Given the description of an element on the screen output the (x, y) to click on. 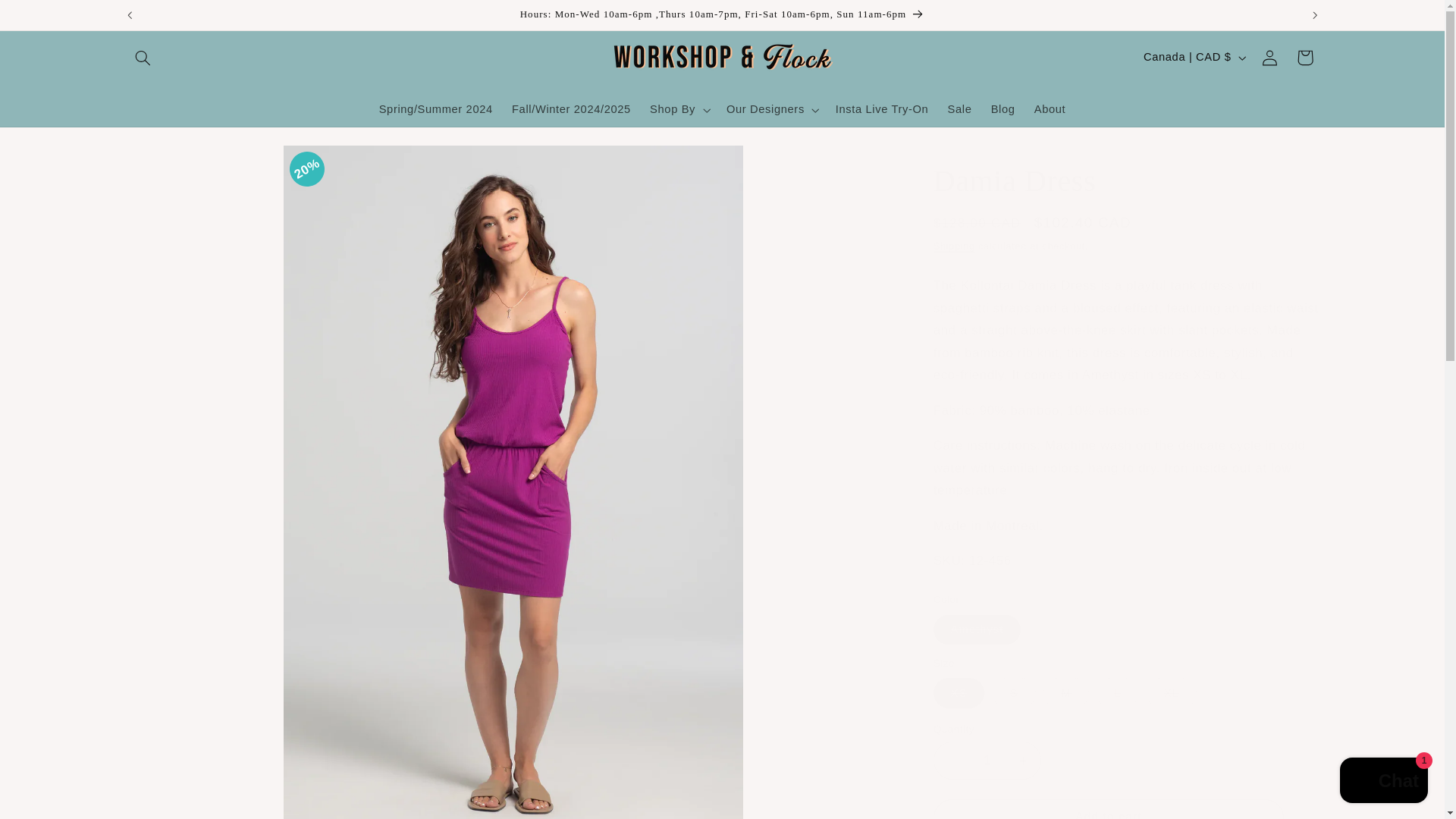
Skip to content (48, 18)
1 (987, 760)
Shopify online store chat (1383, 781)
